Given the description of an element on the screen output the (x, y) to click on. 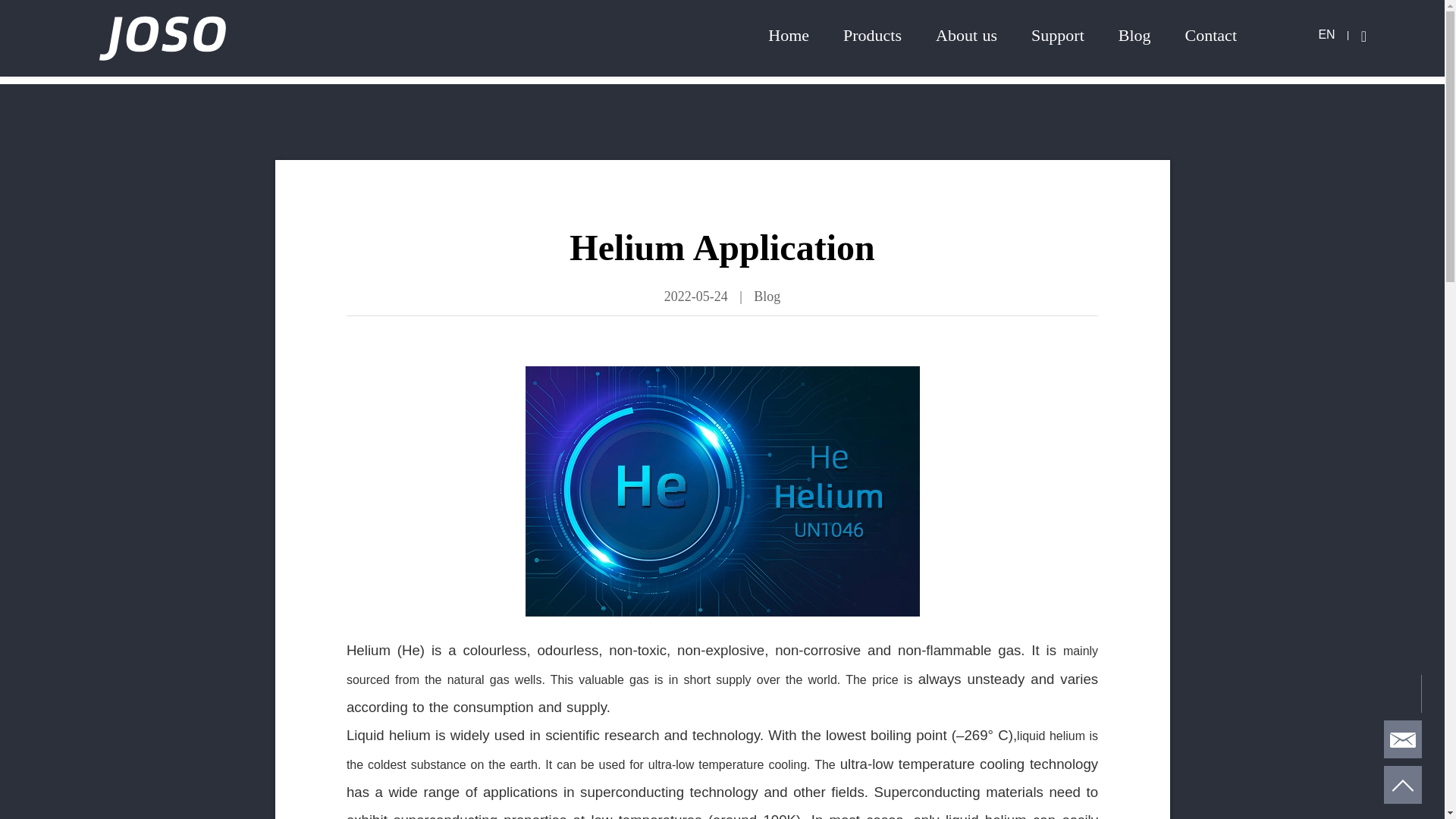
Home (788, 35)
Support (1057, 35)
About us (966, 35)
Contact (1210, 35)
Products (872, 35)
form (1402, 739)
form (1402, 785)
Blog (1134, 35)
